Given the description of an element on the screen output the (x, y) to click on. 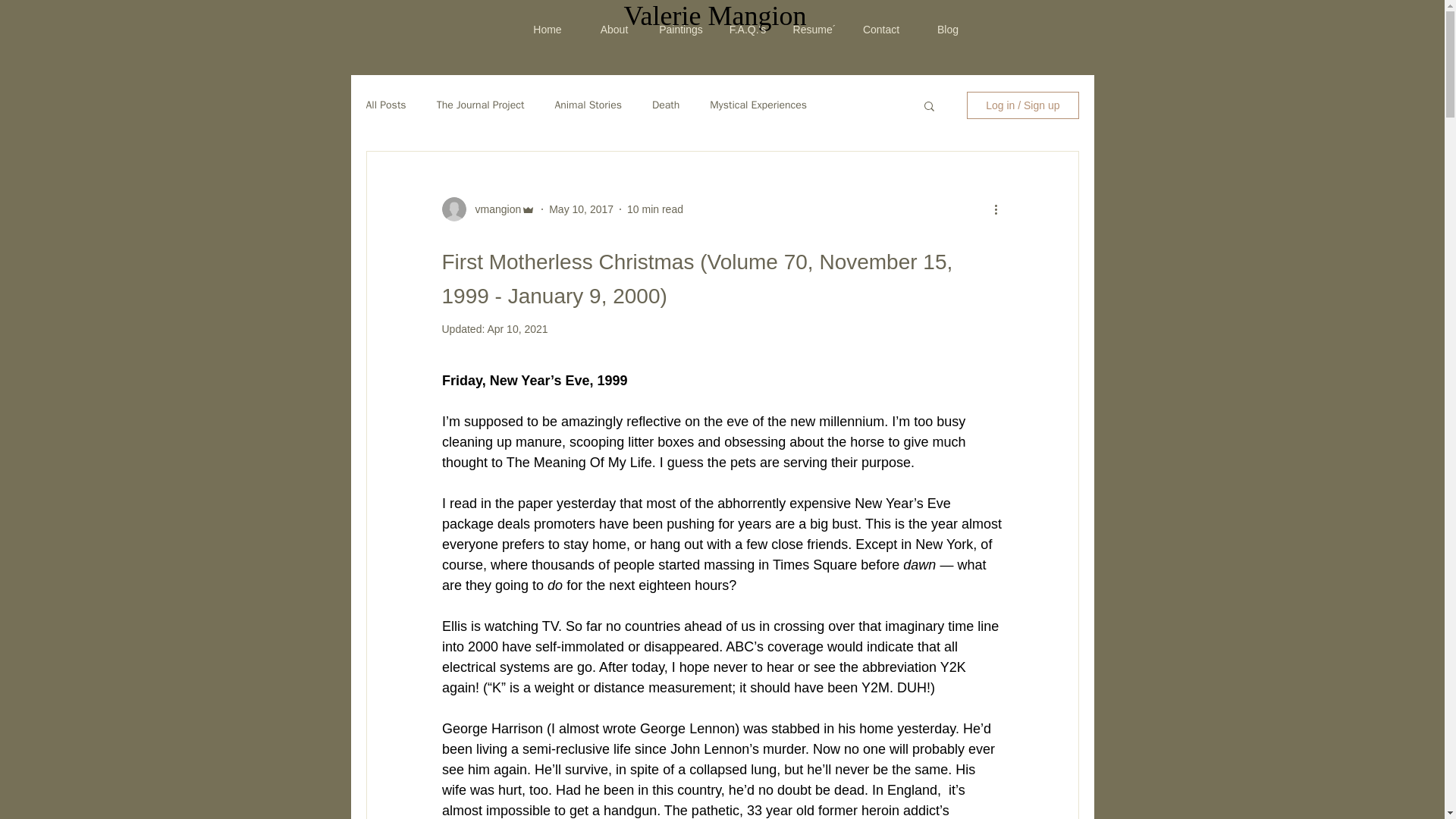
10 min read (654, 209)
Contact (880, 29)
Animal Stories (587, 105)
Apr 10, 2021 (516, 328)
vmangion (493, 209)
May 10, 2017 (580, 209)
Home (546, 29)
Blog (947, 29)
About (613, 29)
F.A.Q.'s (747, 29)
Paintings (680, 29)
Death (665, 105)
The Journal Project (480, 105)
All Posts (385, 105)
Mystical Experiences (758, 105)
